Given the description of an element on the screen output the (x, y) to click on. 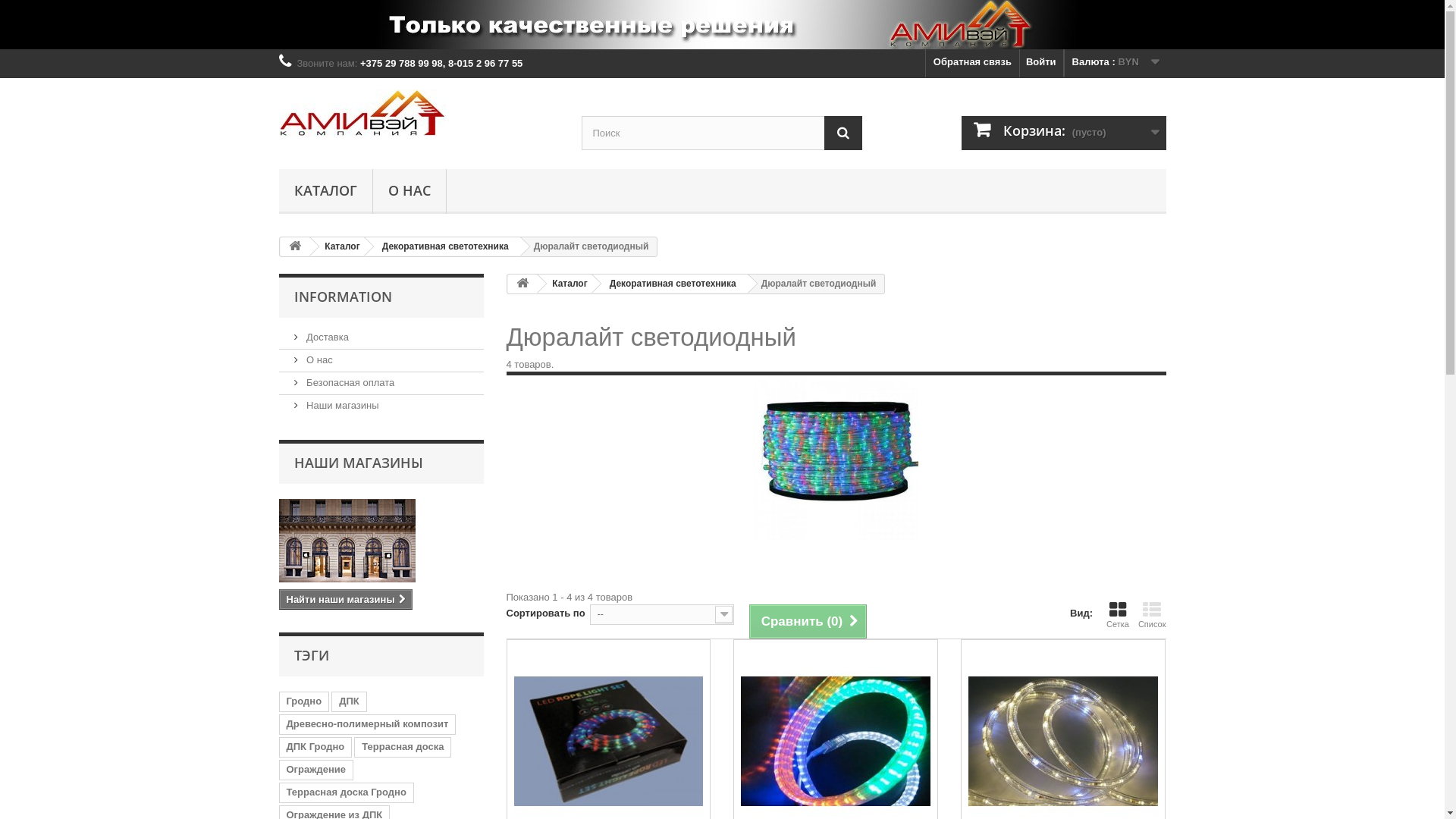
INFORMATION Element type: text (343, 296)
